Given the description of an element on the screen output the (x, y) to click on. 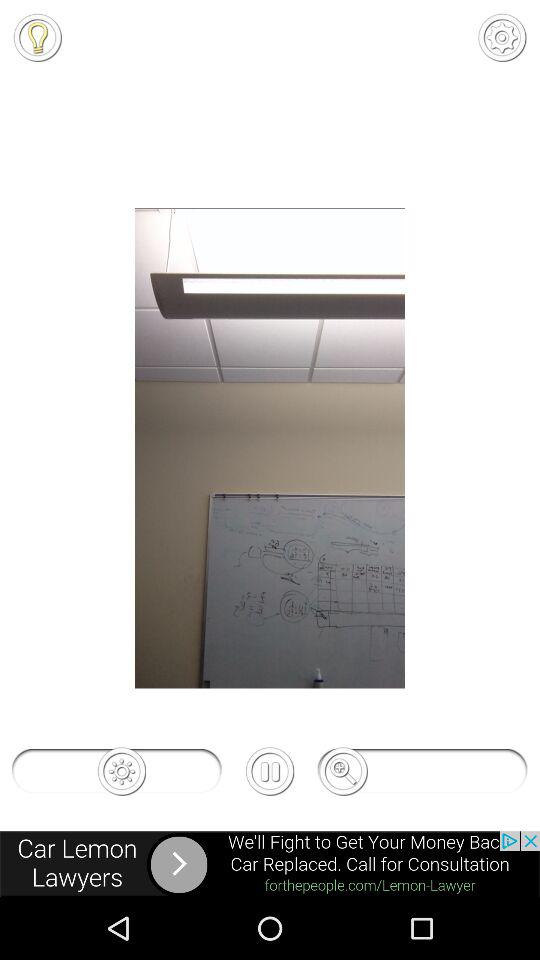
open advertisement (270, 864)
